Given the description of an element on the screen output the (x, y) to click on. 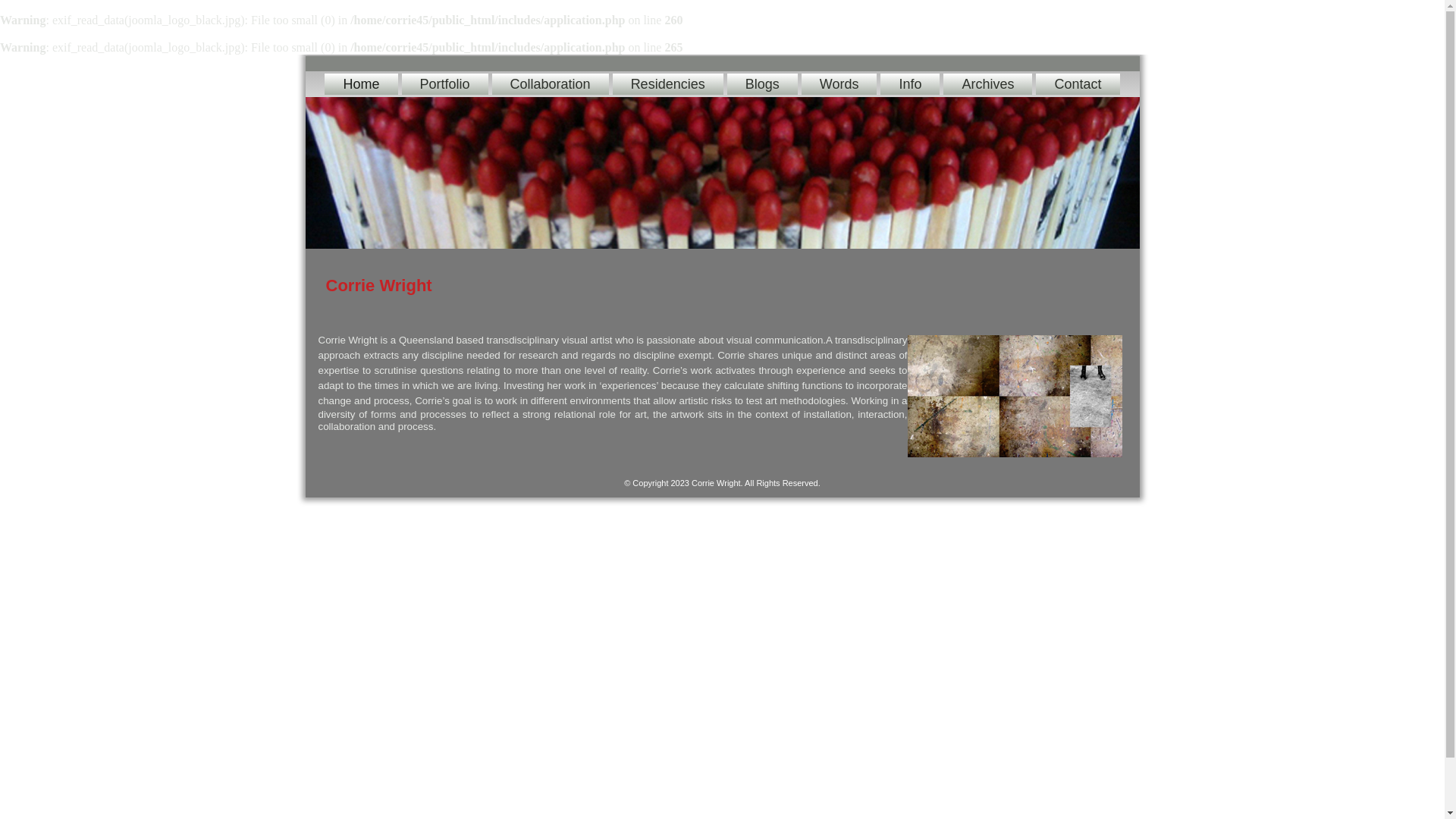
Info Element type: text (909, 83)
Home Element type: text (360, 83)
Collaboration Element type: text (550, 83)
Portfolio Element type: text (444, 83)
Contact Element type: text (1077, 83)
Residencies Element type: text (667, 83)
Archives Element type: text (987, 83)
Blogs Element type: text (762, 83)
Words Element type: text (839, 83)
